Given the description of an element on the screen output the (x, y) to click on. 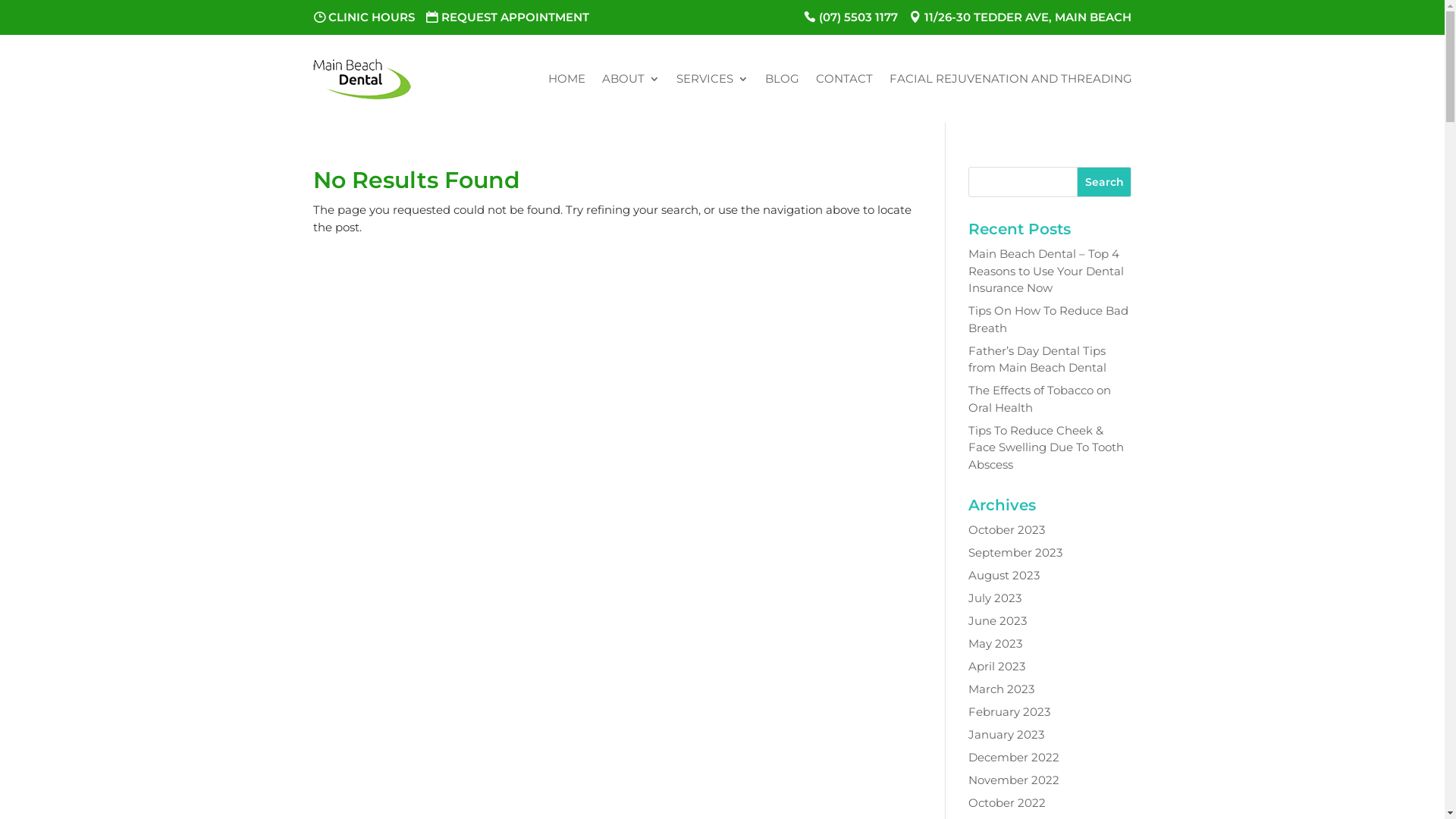
Search Element type: text (1104, 181)
The Effects of Tobacco on Oral Health Element type: text (1039, 398)
October 2022 Element type: text (1006, 802)
SERVICES Element type: text (712, 78)
August 2023 Element type: text (1003, 574)
HOME Element type: text (565, 78)
REQUEST APPOINTMENT Element type: text (507, 16)
February 2023 Element type: text (1009, 711)
October 2023 Element type: text (1006, 529)
December 2022 Element type: text (1013, 756)
CONTACT Element type: text (843, 78)
January 2023 Element type: text (1006, 734)
Tips On How To Reduce Bad Breath Element type: text (1048, 319)
June 2023 Element type: text (997, 620)
Tips To Reduce Cheek & Face Swelling Due To Tooth Abscess Element type: text (1045, 447)
BLOG Element type: text (781, 78)
April 2023 Element type: text (996, 665)
November 2022 Element type: text (1013, 779)
(07) 5503 1177 Element type: text (850, 16)
11/26-30 TEDDER AVE, MAIN BEACH Element type: text (1020, 16)
CLINIC HOURS Element type: text (363, 16)
FACIAL REJUVENATION AND THREADING Element type: text (1009, 78)
July 2023 Element type: text (994, 597)
ABOUT Element type: text (630, 78)
September 2023 Element type: text (1015, 552)
March 2023 Element type: text (1001, 688)
May 2023 Element type: text (995, 643)
